Given the description of an element on the screen output the (x, y) to click on. 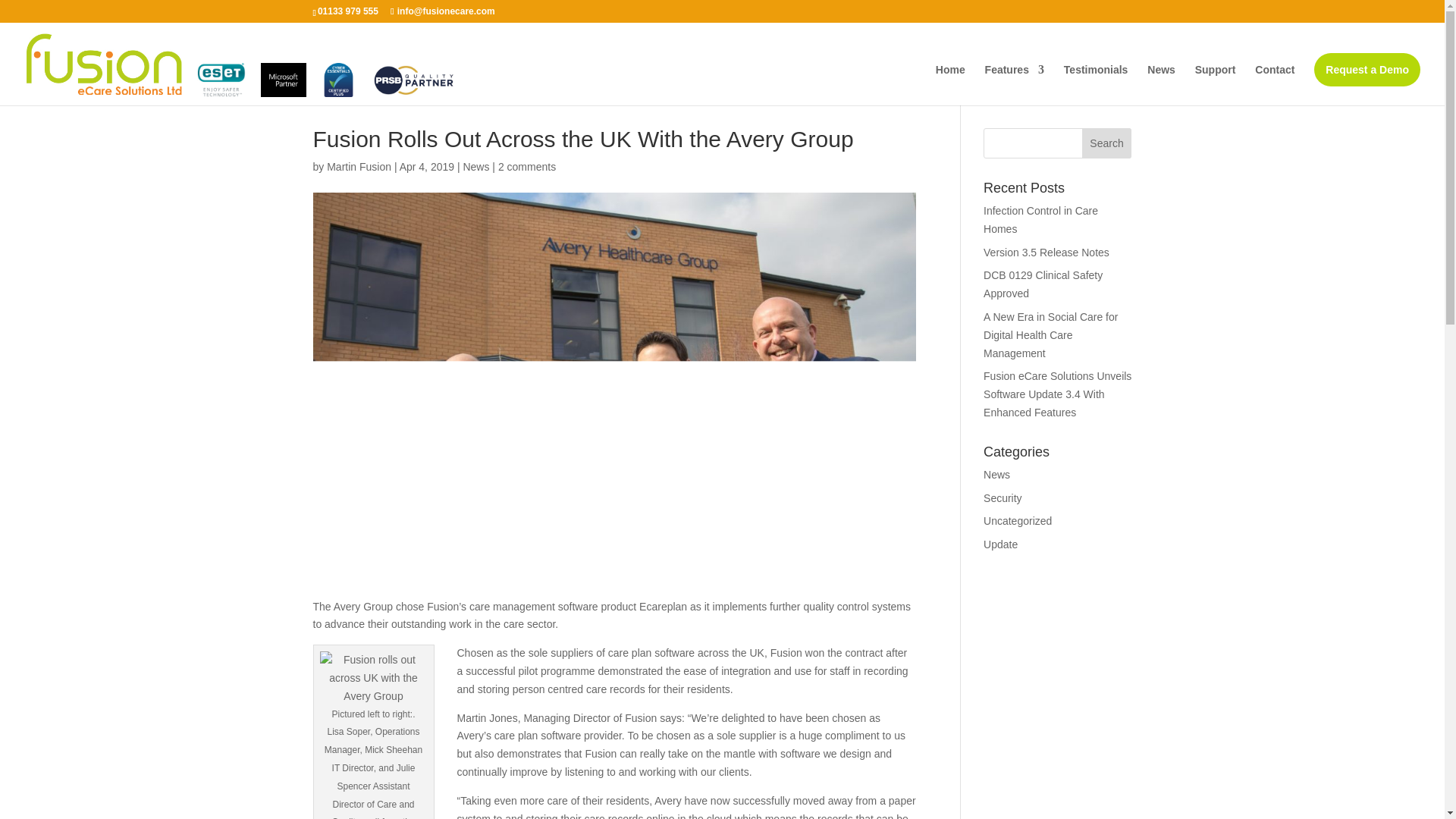
News (997, 474)
Contact (1274, 84)
Support (1215, 84)
Features (1014, 84)
Search (1106, 142)
DCB 0129 Clinical Safety Approved (1043, 284)
Version 3.5 Release Notes (1046, 252)
Security (1003, 498)
Uncategorized (1017, 521)
